Given the description of an element on the screen output the (x, y) to click on. 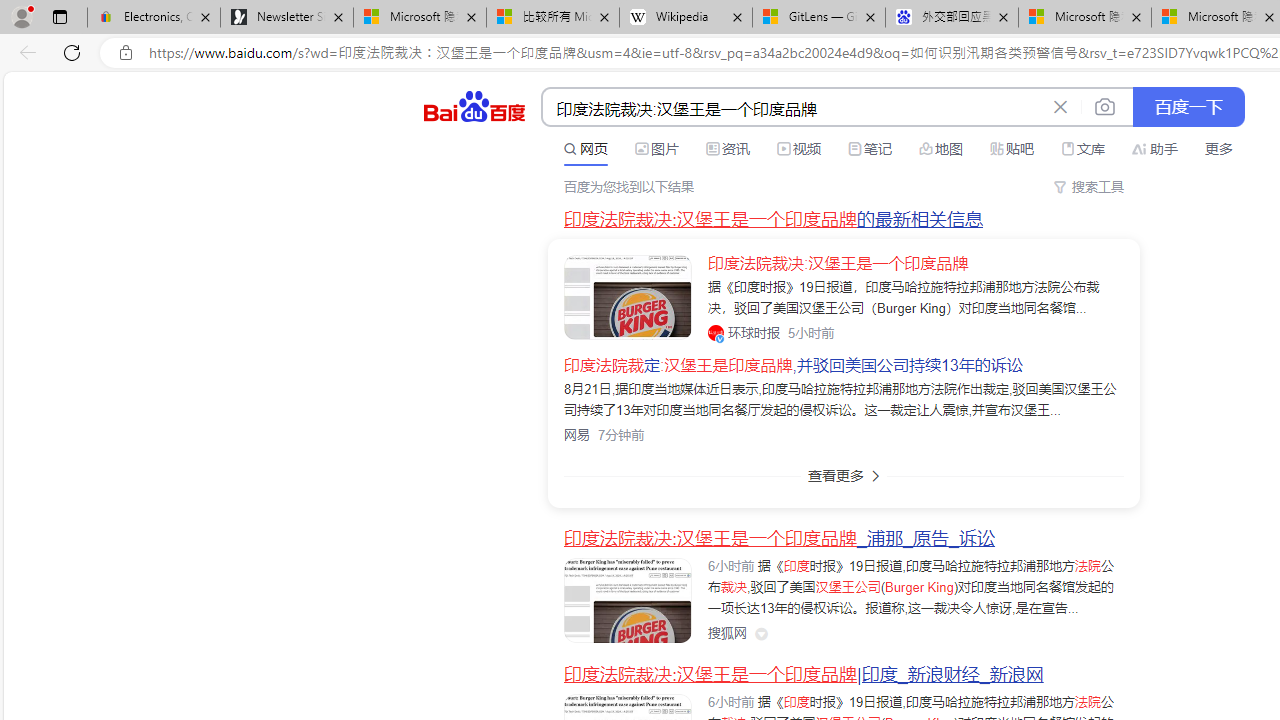
Wikipedia (685, 17)
Newsletter Sign Up (287, 17)
AutomationID: kw (793, 107)
